Given the description of an element on the screen output the (x, y) to click on. 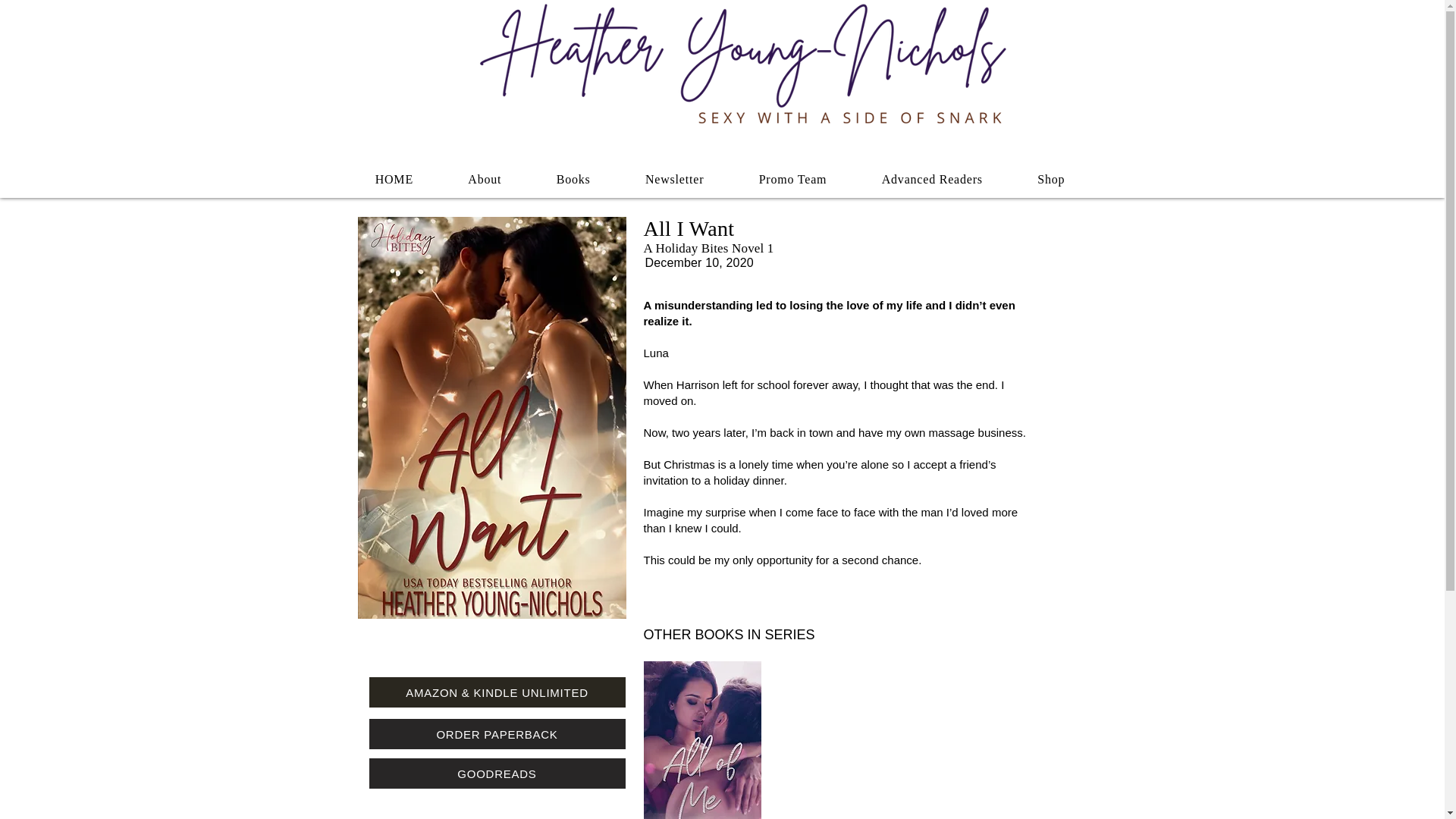
Promo Team (791, 179)
About (484, 179)
Newsletter (675, 179)
HOME (394, 179)
ORDER PAPERBACK (496, 734)
GOODREADS (496, 773)
Advanced Readers (932, 179)
Shop (1051, 179)
